Given the description of an element on the screen output the (x, y) to click on. 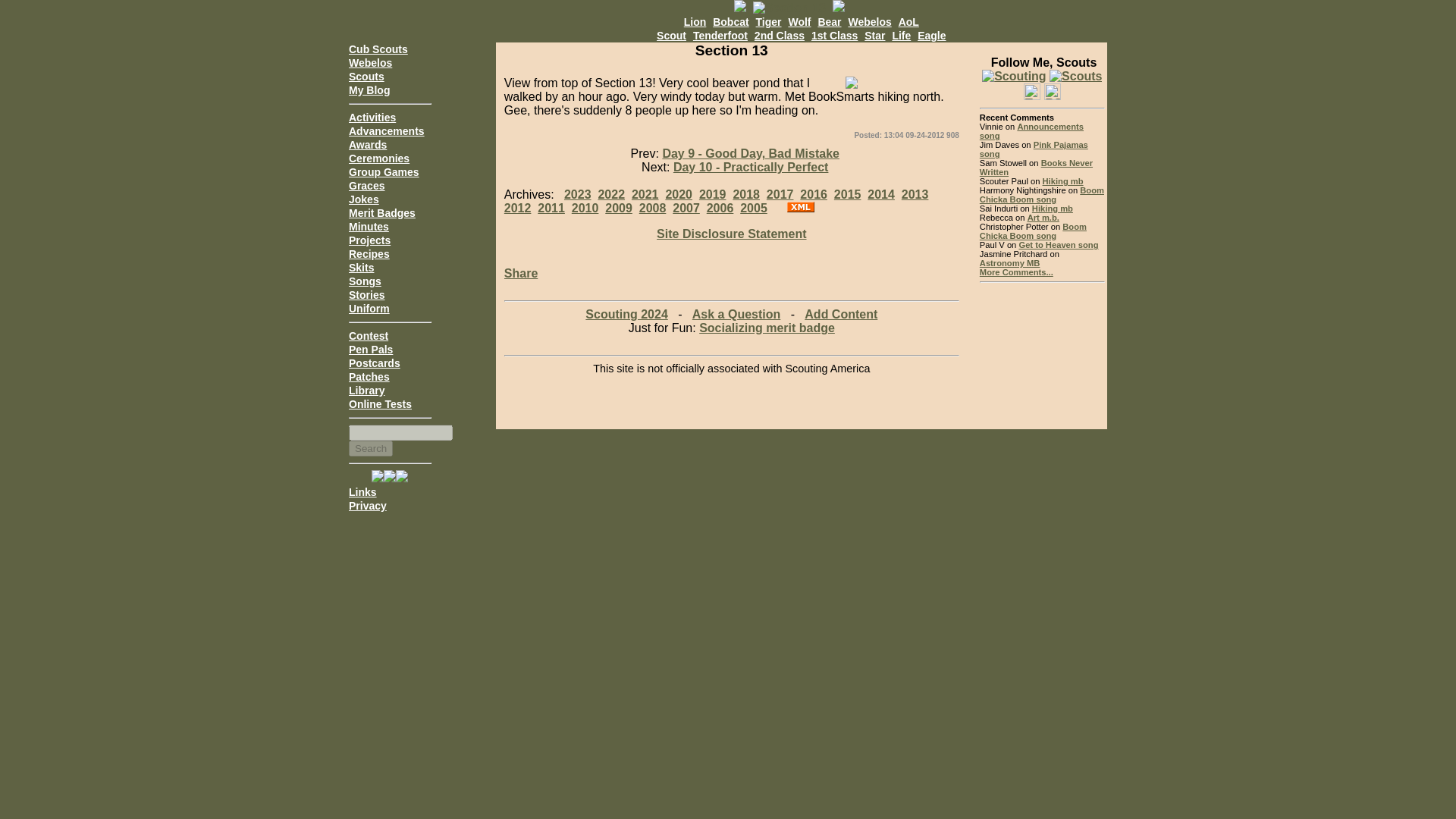
Email (1013, 76)
Projects (369, 240)
Tiger (768, 21)
Scouts (366, 76)
Wolf (798, 21)
Contest (368, 336)
Advancements (387, 131)
Activities (372, 117)
Links (363, 491)
Songs (365, 281)
Postcards (374, 363)
Search (371, 448)
My Blog (369, 90)
Recipes (369, 254)
Pen Pals (371, 349)
